Given the description of an element on the screen output the (x, y) to click on. 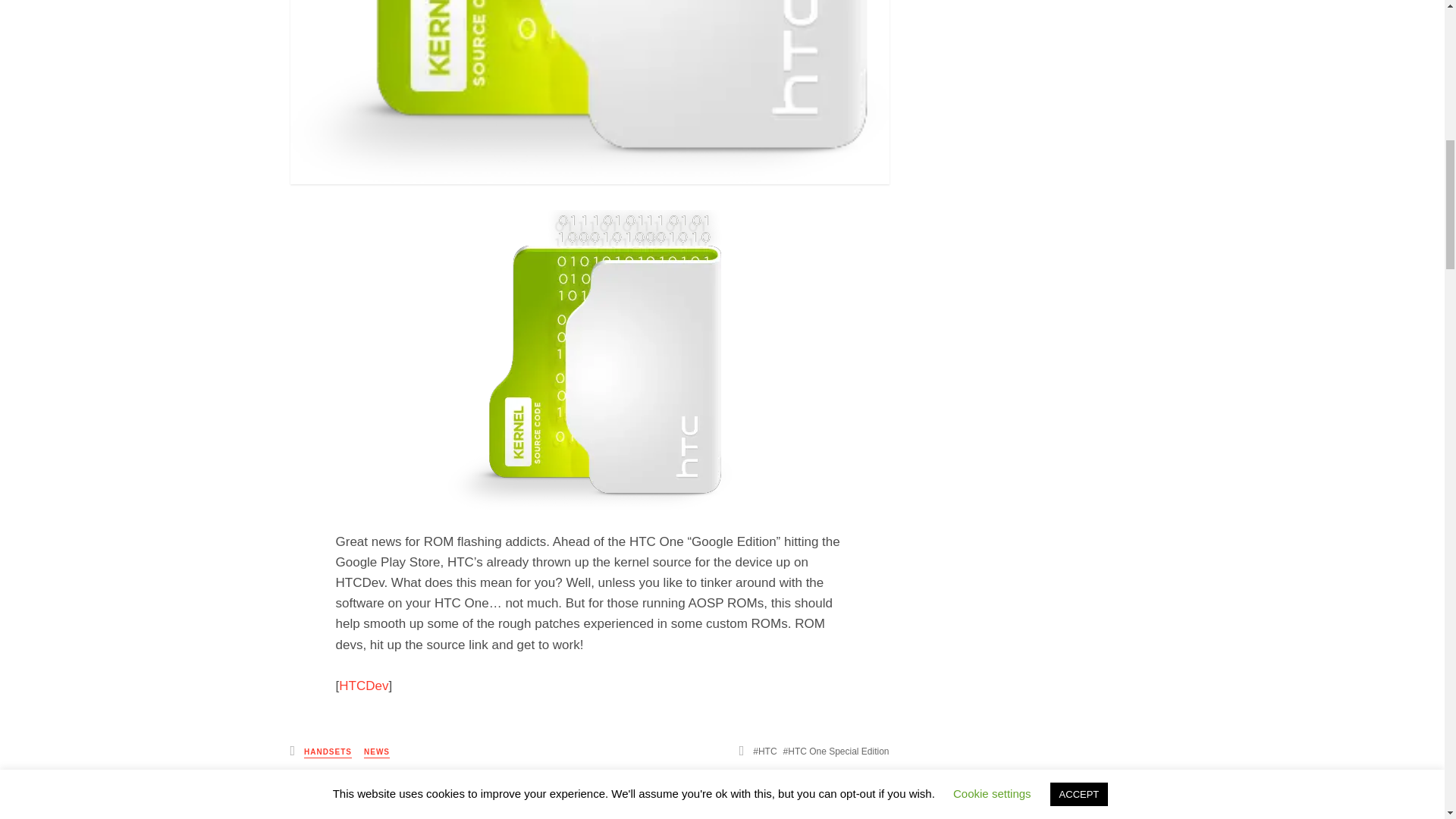
NEWS (377, 752)
HTC One Special Edition (836, 751)
HANDSETS (328, 752)
8 (858, 801)
HTCDev (363, 685)
HTC (764, 751)
